Given the description of an element on the screen output the (x, y) to click on. 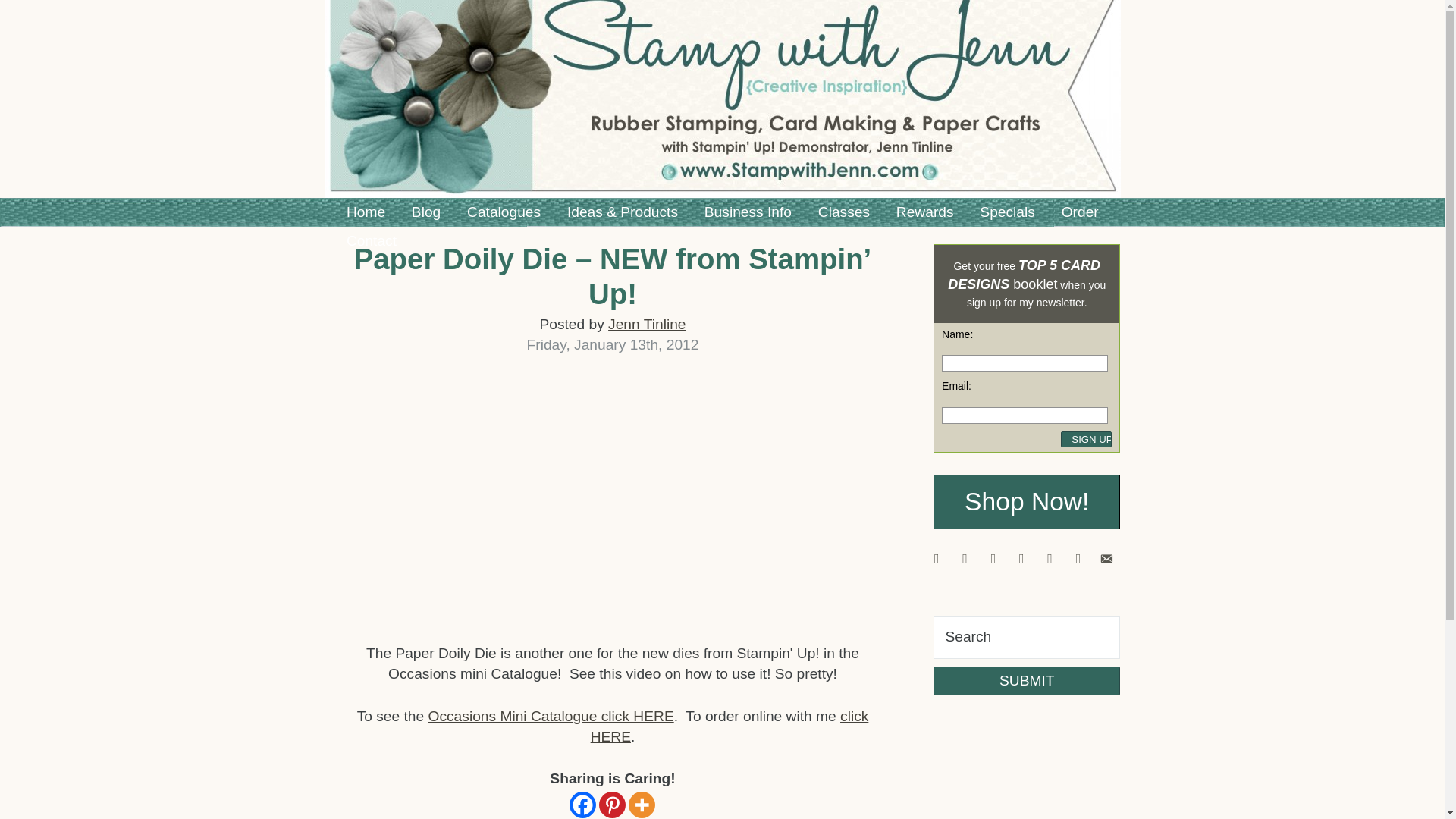
Default Label (1077, 557)
Default Label (965, 557)
Facebook (582, 804)
Search (1026, 637)
Twitter (993, 557)
Blog (425, 212)
Sign Up (1086, 439)
More (641, 804)
Occasions Mini catalogue (550, 715)
Submit (1026, 680)
